Given the description of an element on the screen output the (x, y) to click on. 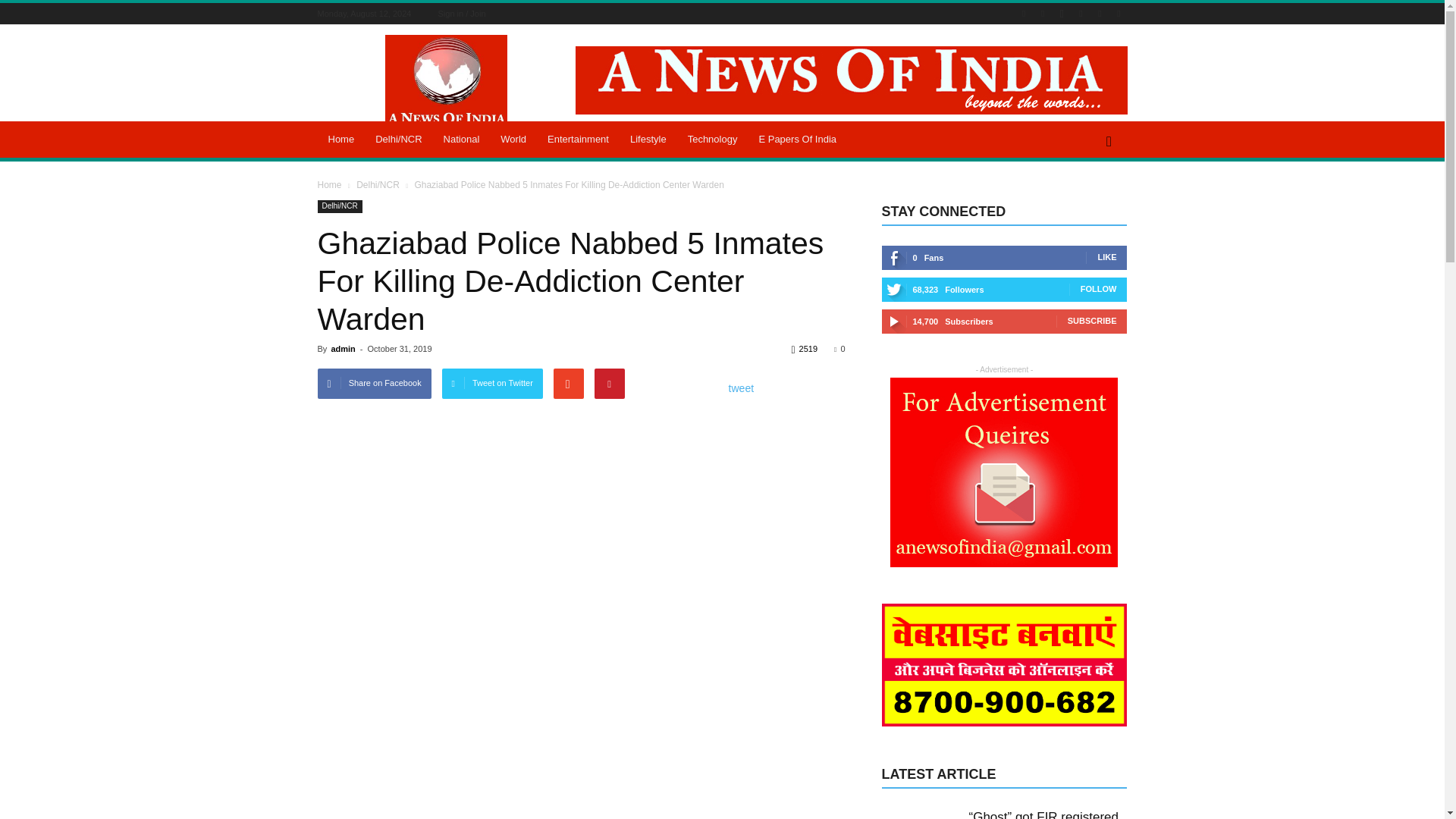
National (461, 139)
Home (341, 139)
Entertainment (578, 139)
World (513, 139)
